Given the description of an element on the screen output the (x, y) to click on. 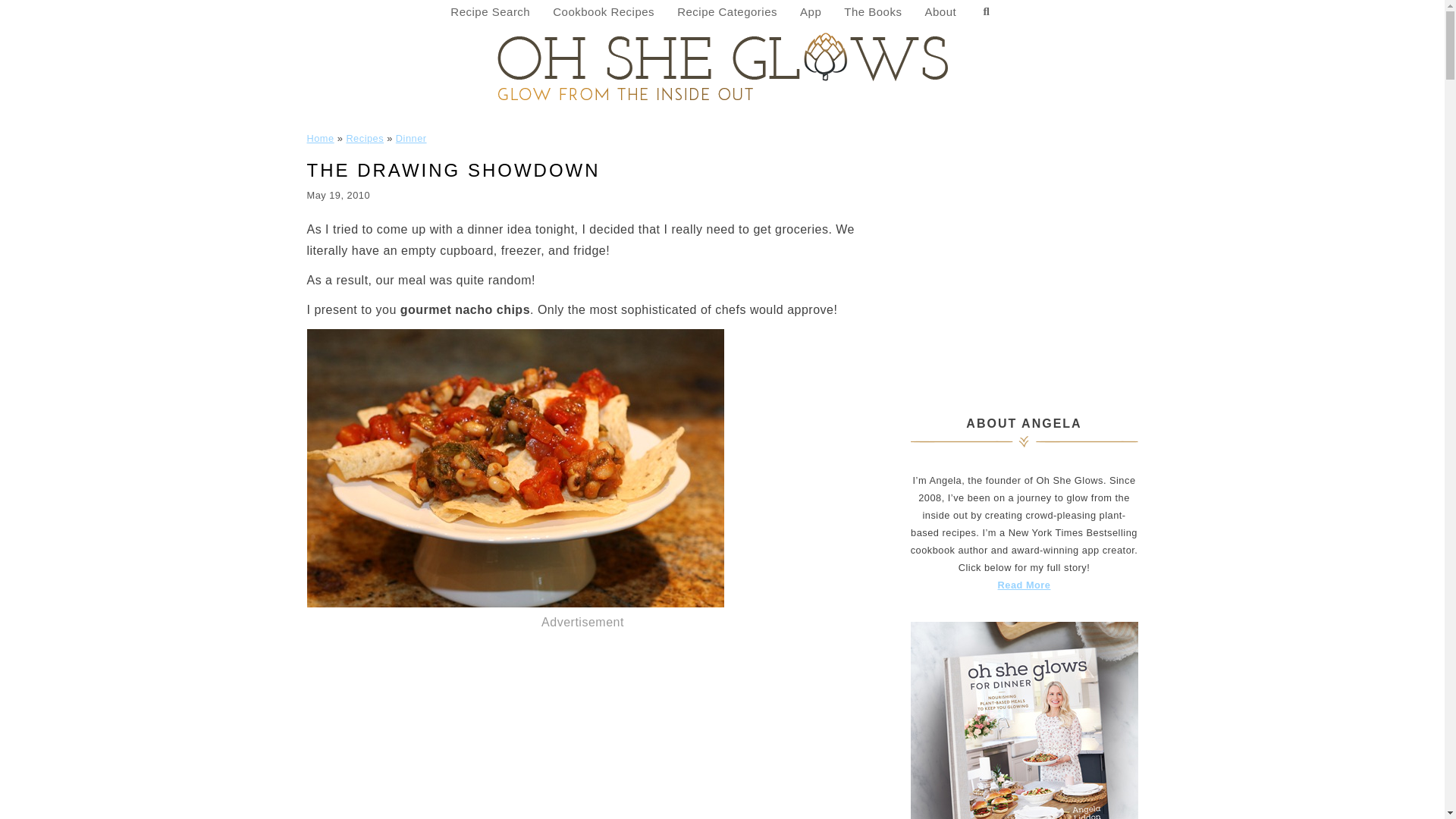
Recipe Search (490, 11)
App (810, 11)
Dinner (411, 138)
Home (319, 138)
Recipes (365, 138)
Recipe Categories (727, 11)
Search (986, 11)
Oh She Glows (722, 65)
About (940, 11)
Oh She Glows (721, 64)
The Books (872, 11)
Cookbook Recipes (603, 11)
